Given the description of an element on the screen output the (x, y) to click on. 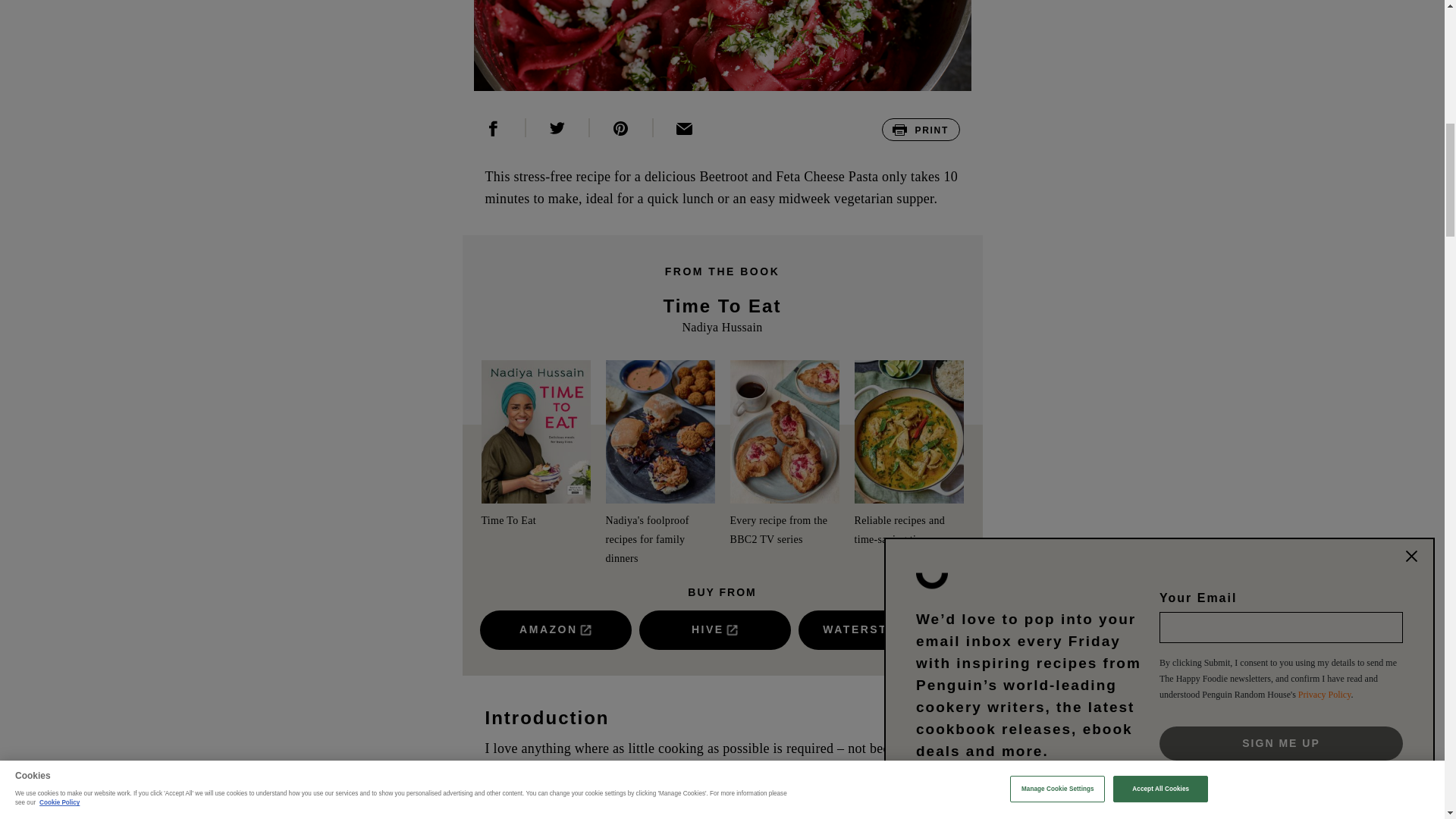
Share by Email (684, 127)
